Given the description of an element on the screen output the (x, y) to click on. 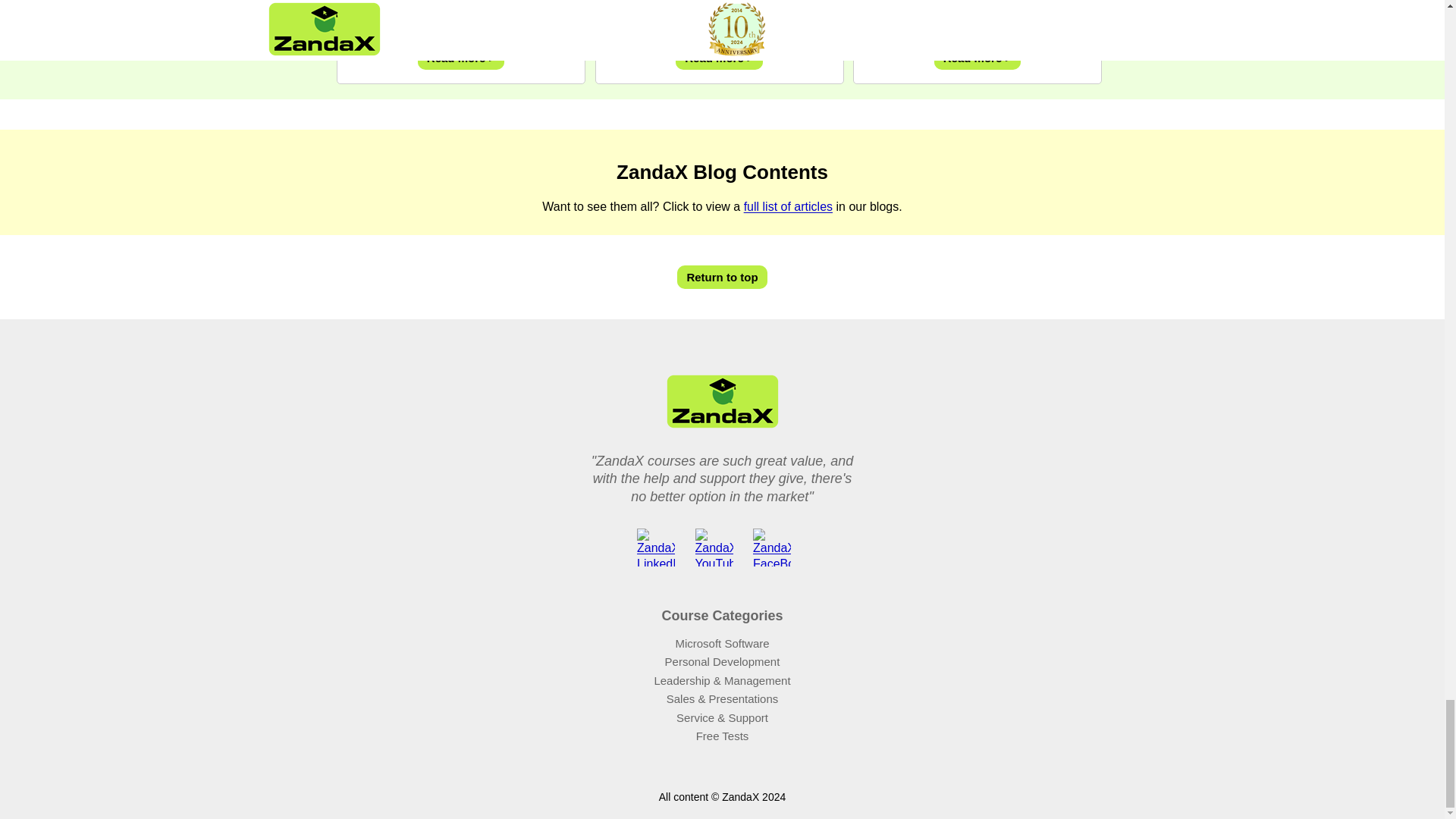
full list of articles (788, 205)
Return to top (722, 277)
Return to top (722, 277)
